Given the description of an element on the screen output the (x, y) to click on. 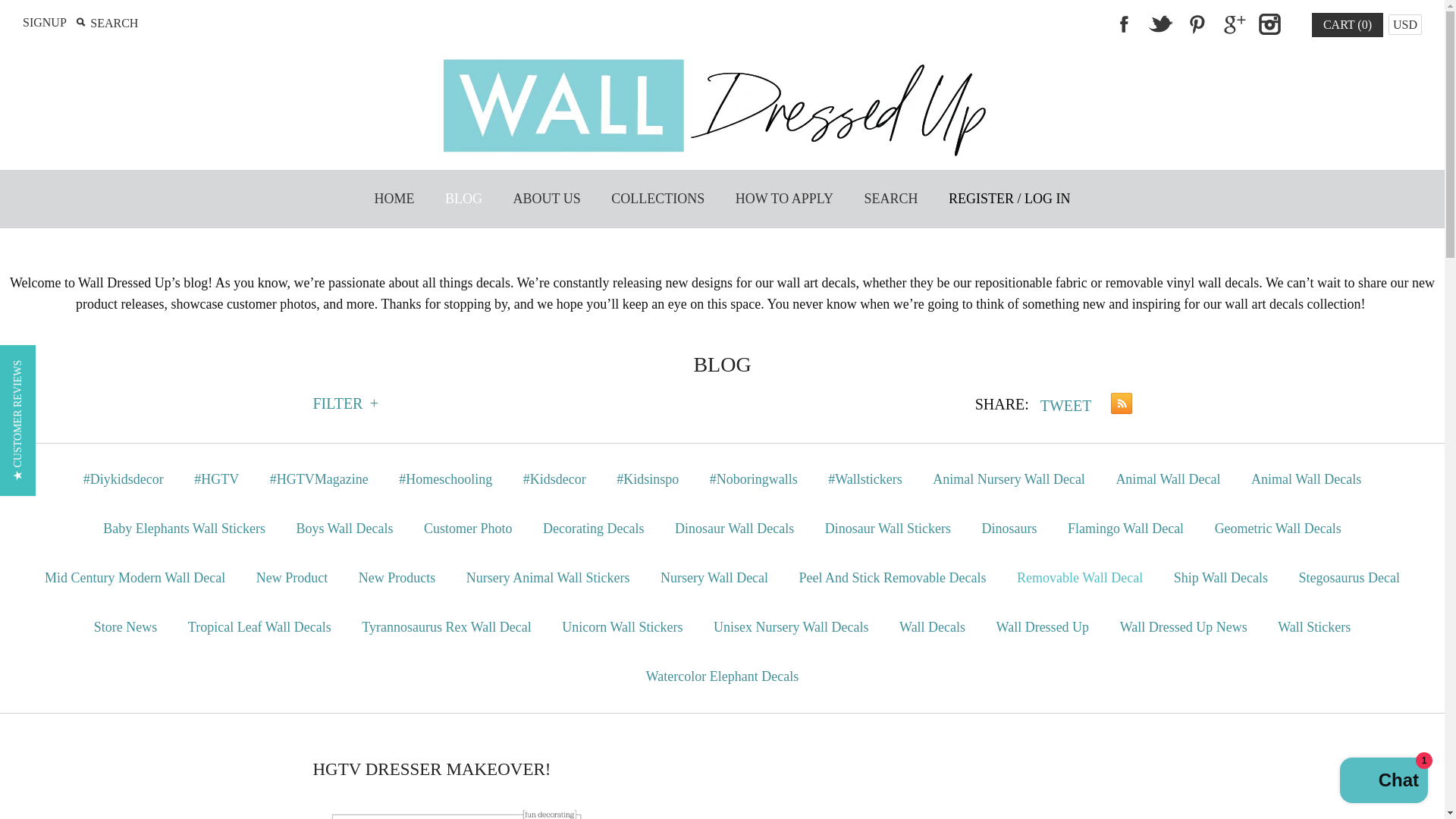
Show articles tagged animal wall decal (1167, 479)
Pinterest (1195, 23)
PINTEREST (1195, 23)
COLLECTIONS (656, 198)
ABOUT US (546, 198)
TWITTER (1159, 23)
Twitter (1159, 23)
SIGNUP (44, 21)
HOME (394, 198)
REGISTER (981, 198)
Blog RSS (1116, 406)
Wall Dressed Up (722, 60)
BLOG (463, 198)
LOG IN (1047, 198)
Show articles tagged Baby Elephants Wall Stickers (183, 528)
